Given the description of an element on the screen output the (x, y) to click on. 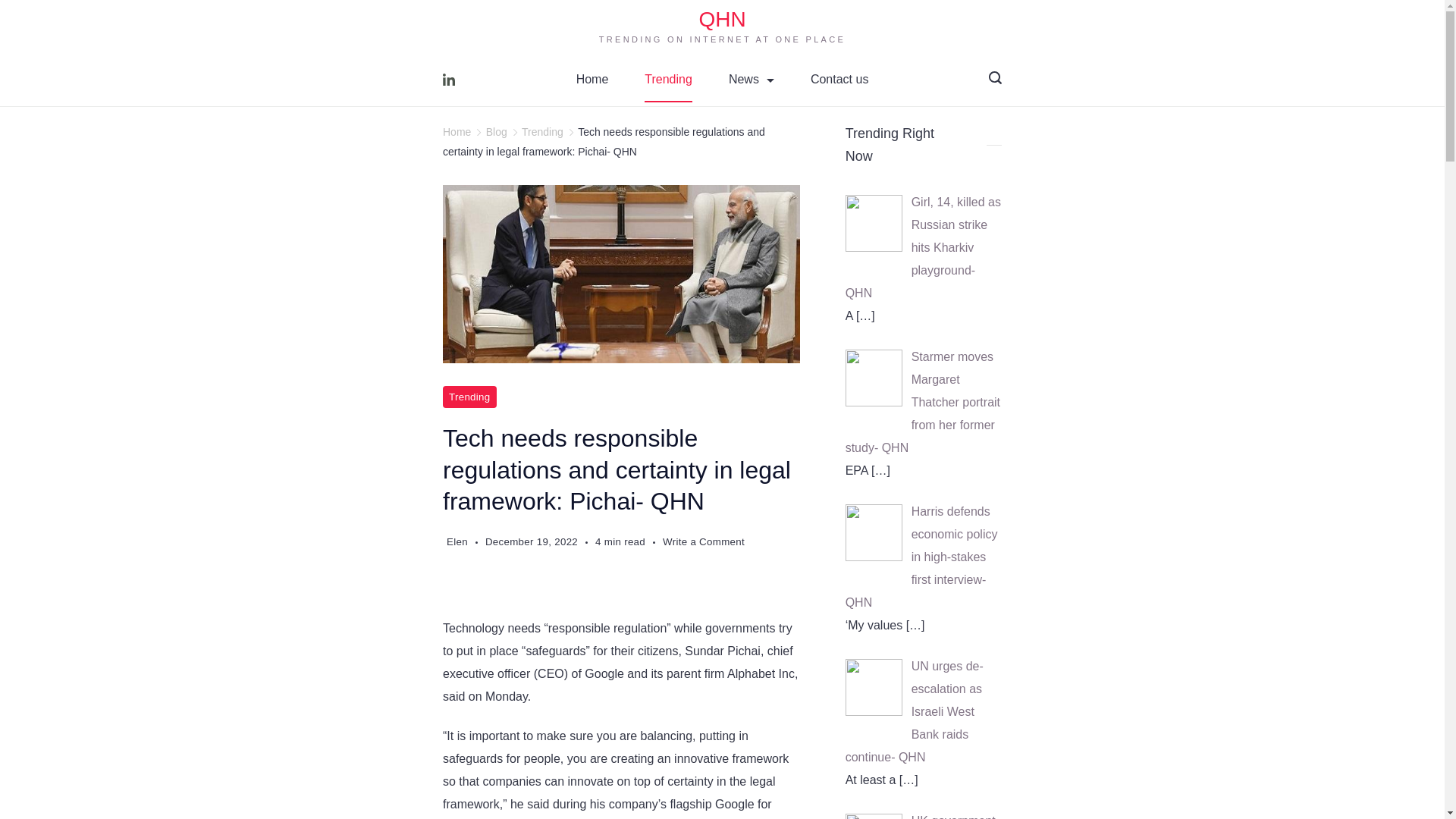
Trending (469, 396)
Blog (496, 132)
Home (456, 132)
Elen (456, 541)
Home (592, 78)
QHN (721, 19)
News (751, 78)
Contact us (839, 78)
Trending (542, 132)
